Given the description of an element on the screen output the (x, y) to click on. 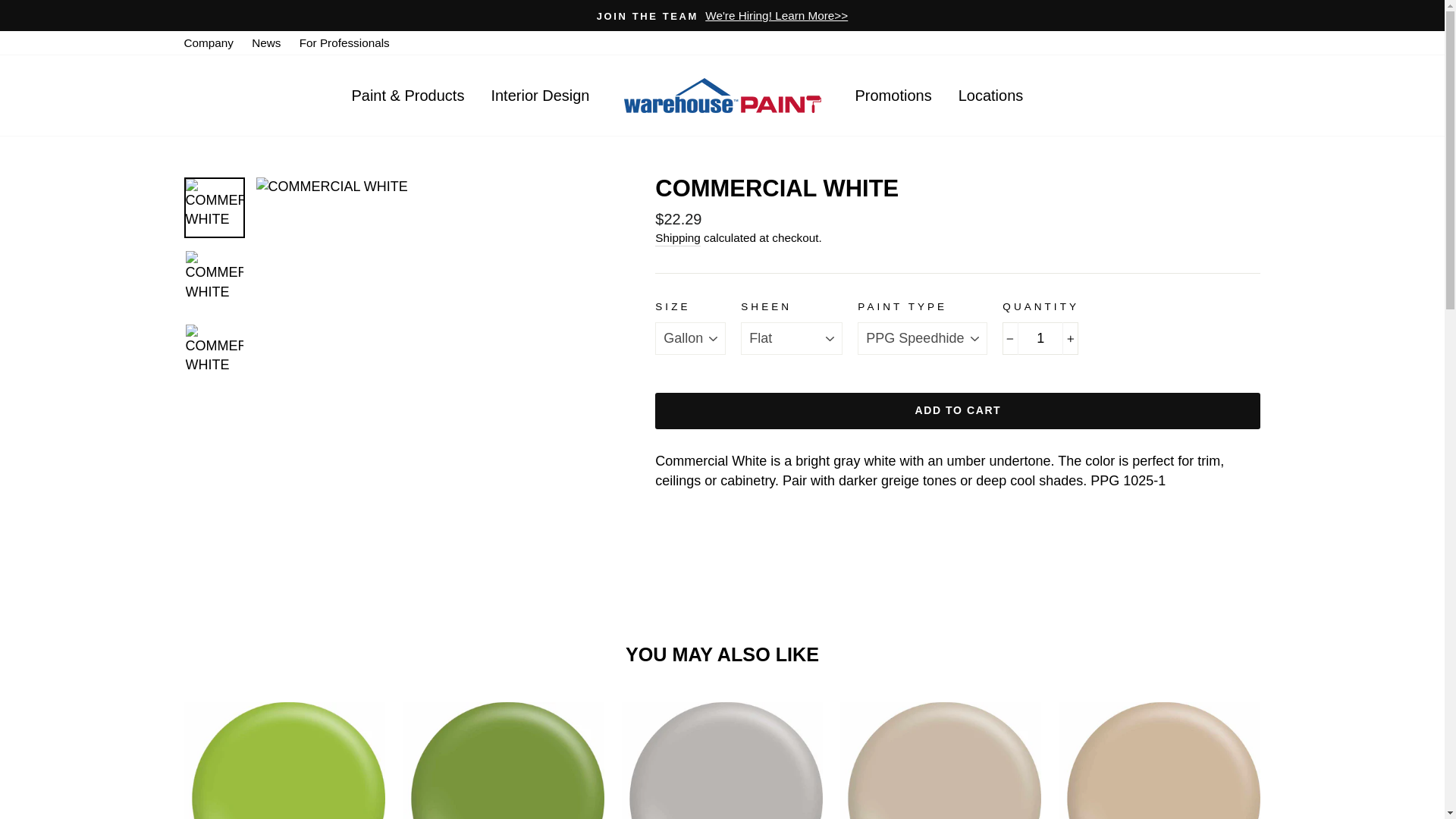
Company (208, 42)
ADD TO CART (957, 411)
Promotions (892, 94)
Interior Design (539, 94)
1 (1040, 338)
News (266, 42)
For Professionals (344, 42)
Locations (991, 94)
Shipping (677, 238)
